Given the description of an element on the screen output the (x, y) to click on. 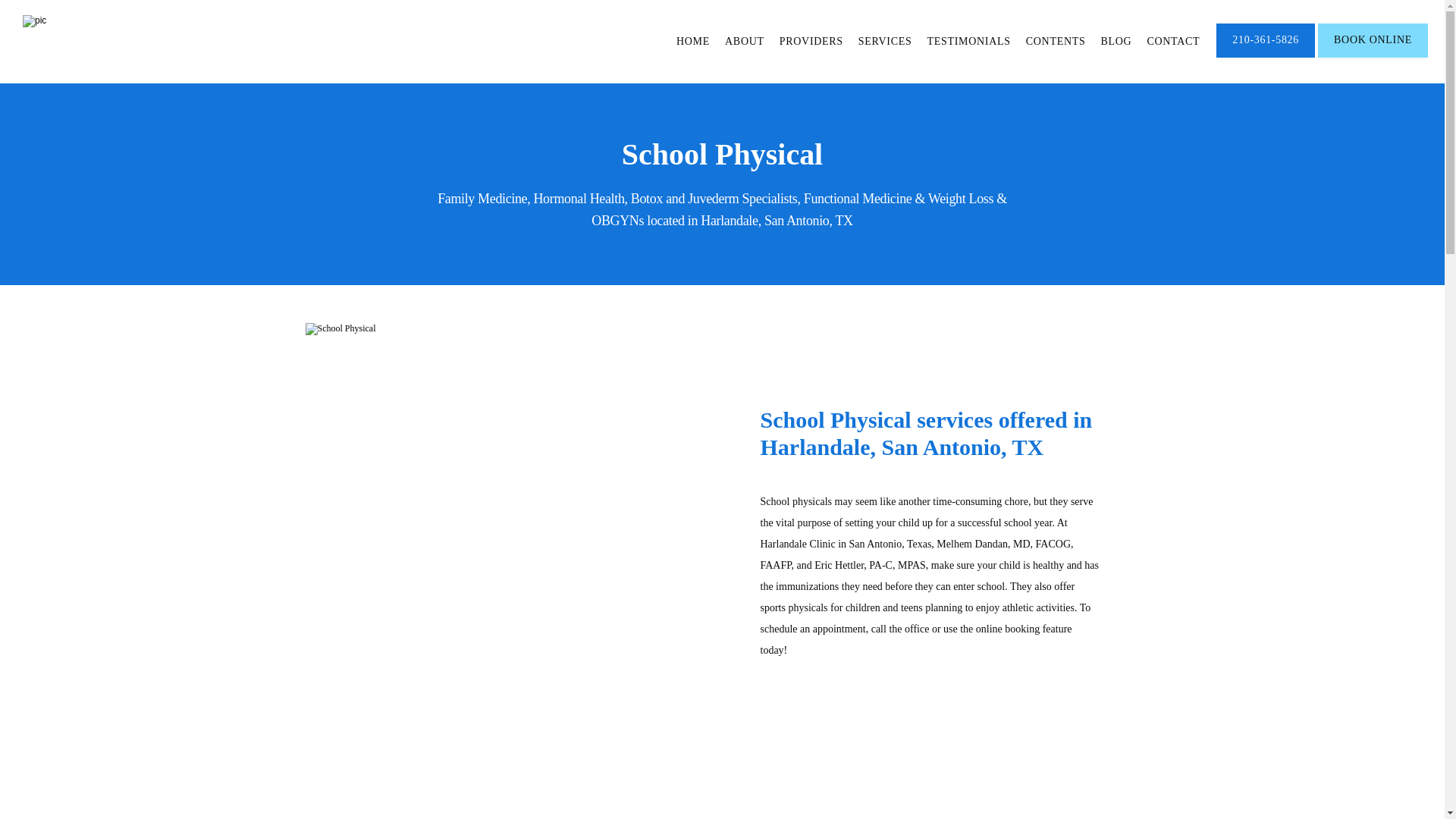
SERVICES (885, 41)
ABOUT (744, 41)
BOOK ONLINE (1372, 55)
PROVIDERS (810, 41)
CONTENTS (1056, 41)
210-361-5826 (1265, 55)
HOME (693, 41)
BLOG (1115, 41)
TESTIMONIALS (968, 41)
CONTACT (1173, 41)
